Given the description of an element on the screen output the (x, y) to click on. 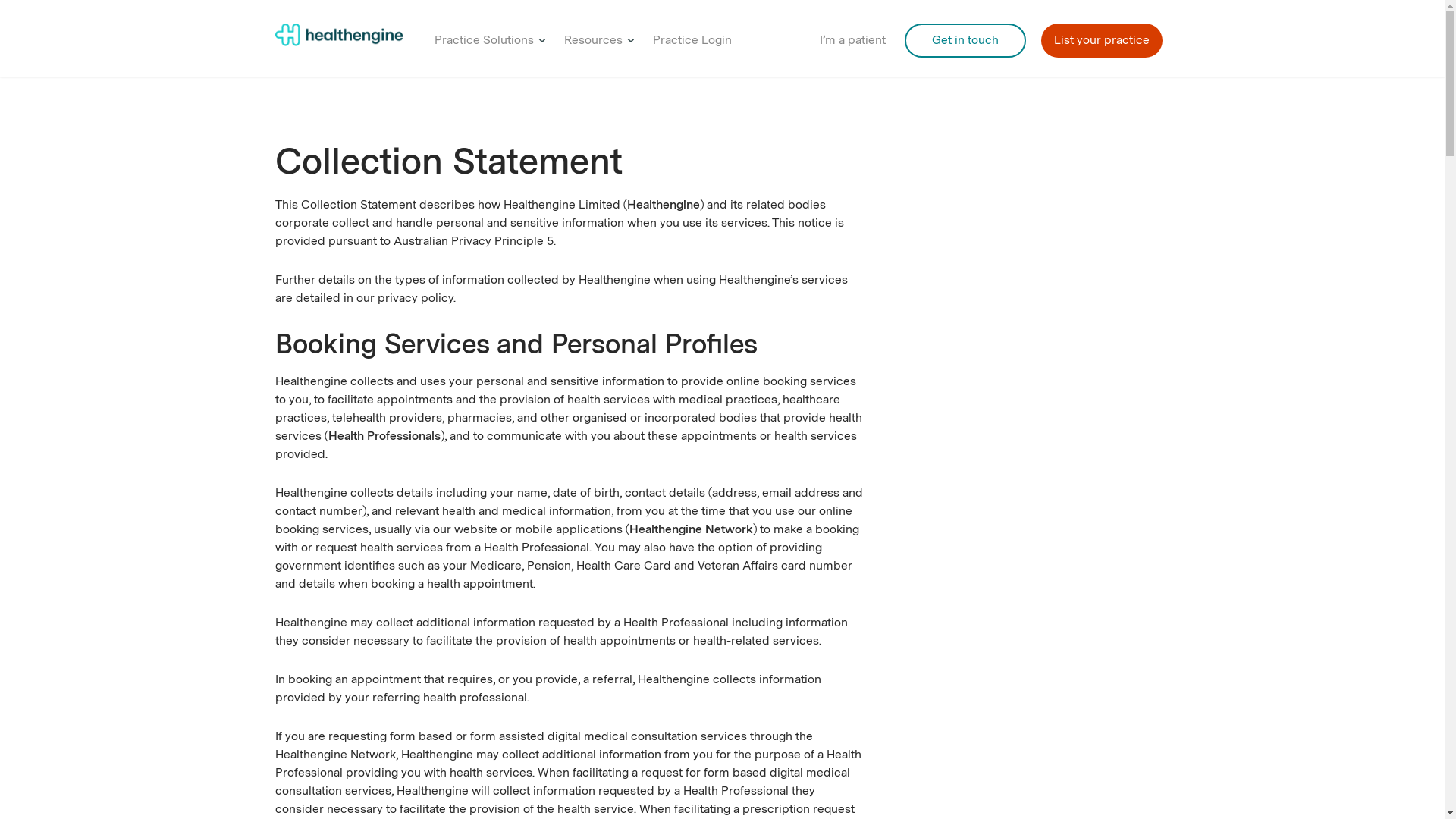
List your practice Element type: text (1100, 48)
Practice Solutions Element type: text (484, 48)
Resources Element type: text (592, 48)
Get in touch Element type: text (964, 48)
Practice Login Element type: text (692, 48)
